Given the description of an element on the screen output the (x, y) to click on. 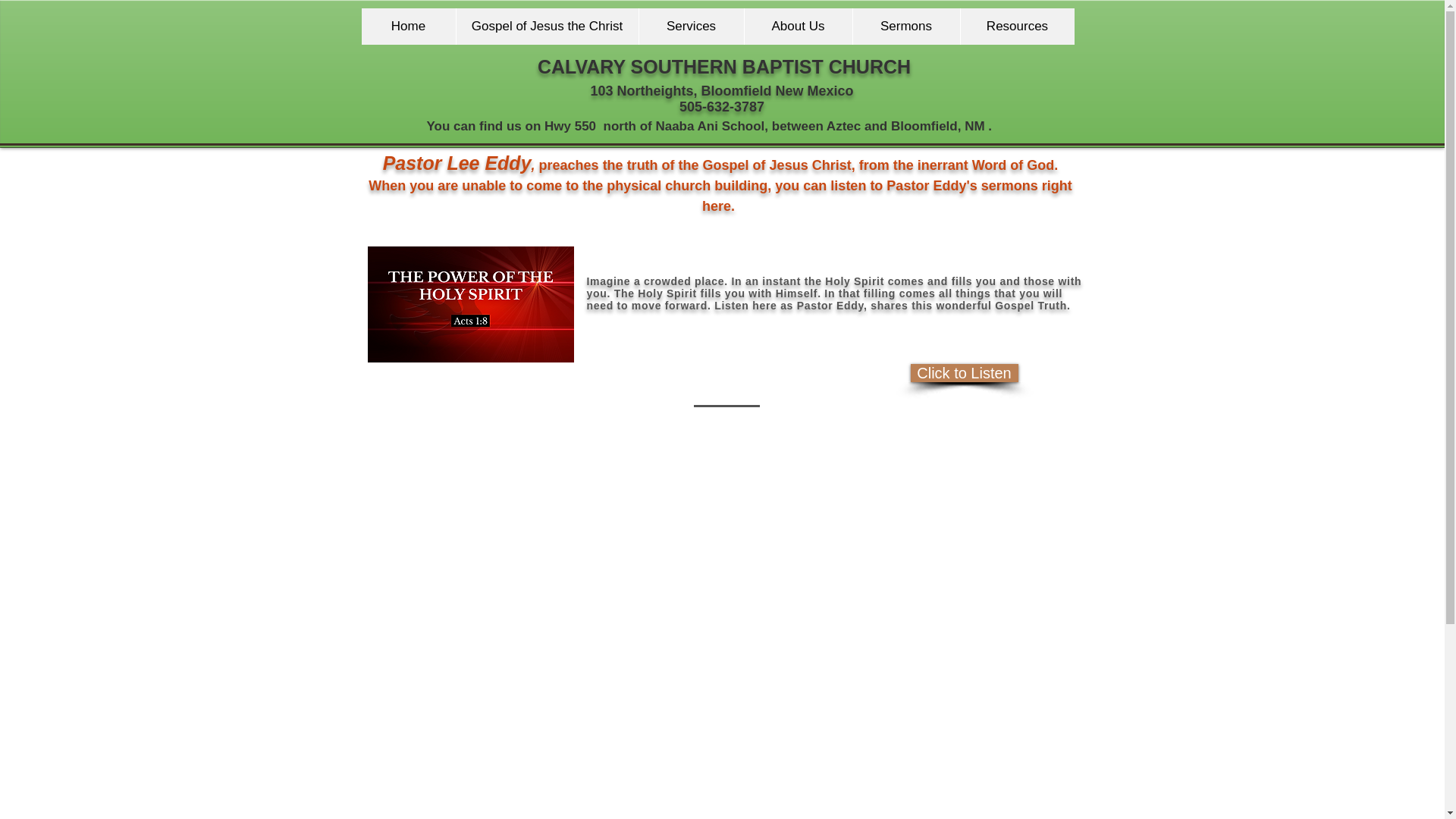
7-5-22 The Power of the Holy Spirit.png (469, 304)
Gospel of Jesus the Christ (545, 26)
Sermons (905, 26)
About Us (796, 26)
Click to Listen (963, 372)
Home (407, 26)
Resources (1016, 26)
Services (691, 26)
